Given the description of an element on the screen output the (x, y) to click on. 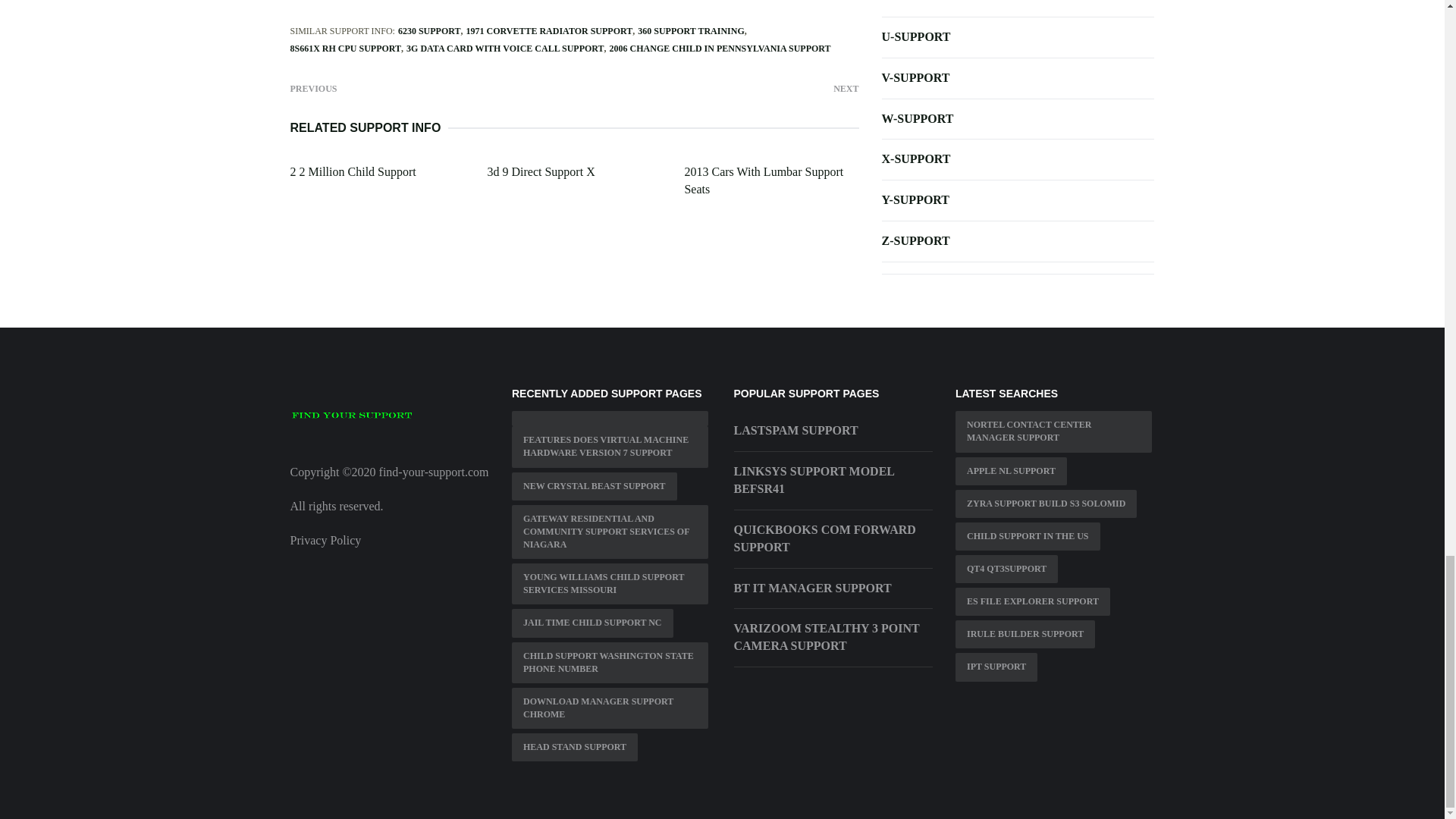
3d 9 Direct Support X (540, 171)
8S661X RH CPU SUPPORT (345, 48)
NEXT (845, 87)
3G DATA CARD WITH VOICE CALL SUPPORT (505, 48)
2006 CHANGE CHILD IN PENNSYLVANIA SUPPORT (720, 48)
2 2 Million Child Support (351, 171)
2013 Cars With Lumbar Support Seats (763, 180)
1971 CORVETTE RADIATOR SUPPORT (549, 30)
360 SUPPORT TRAINING (690, 30)
6230 SUPPORT (429, 30)
